Given the description of an element on the screen output the (x, y) to click on. 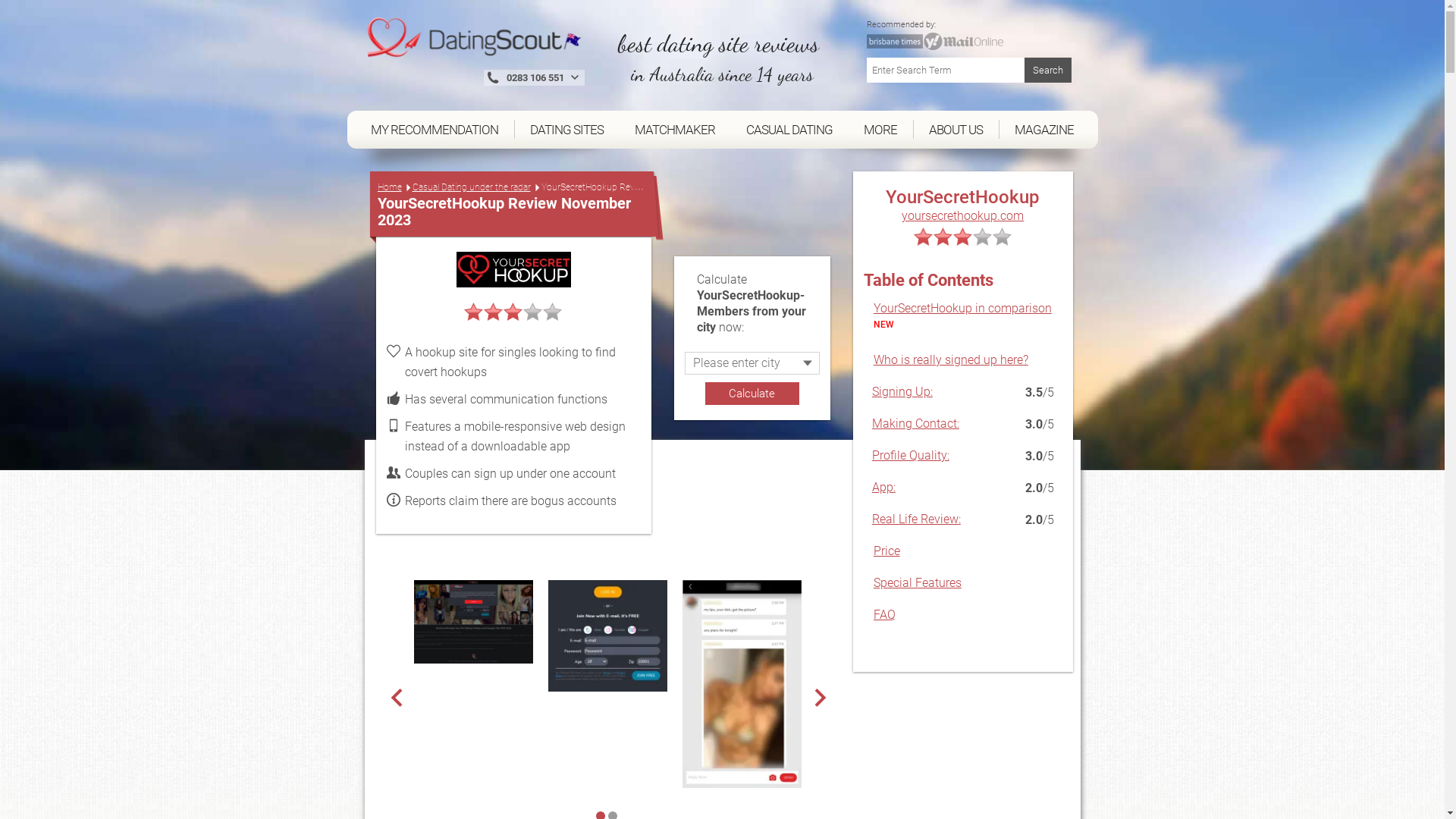
Signing Up: Element type: text (902, 391)
Profile Quality: Element type: text (910, 455)
Making Contact: Element type: text (915, 423)
Special Features Element type: text (917, 582)
Home Element type: text (389, 187)
App: Element type: text (883, 487)
Who is really signed up here? Element type: text (950, 359)
Real Life Review: Element type: text (916, 518)
DATING SITES Element type: text (566, 128)
Search Element type: text (1046, 69)
MATCHMAKER Element type: text (674, 128)
Price Element type: text (886, 550)
Casual Dating under the radar Element type: text (471, 187)
Calculate Element type: text (752, 393)
CASUAL DATING Element type: text (789, 128)
MY RECOMMENDATION Element type: text (434, 128)
YourSecretHookup in comparison Element type: text (962, 308)
FAQ Element type: text (884, 614)
MAGAZINE Element type: text (1044, 128)
